Given the description of an element on the screen output the (x, y) to click on. 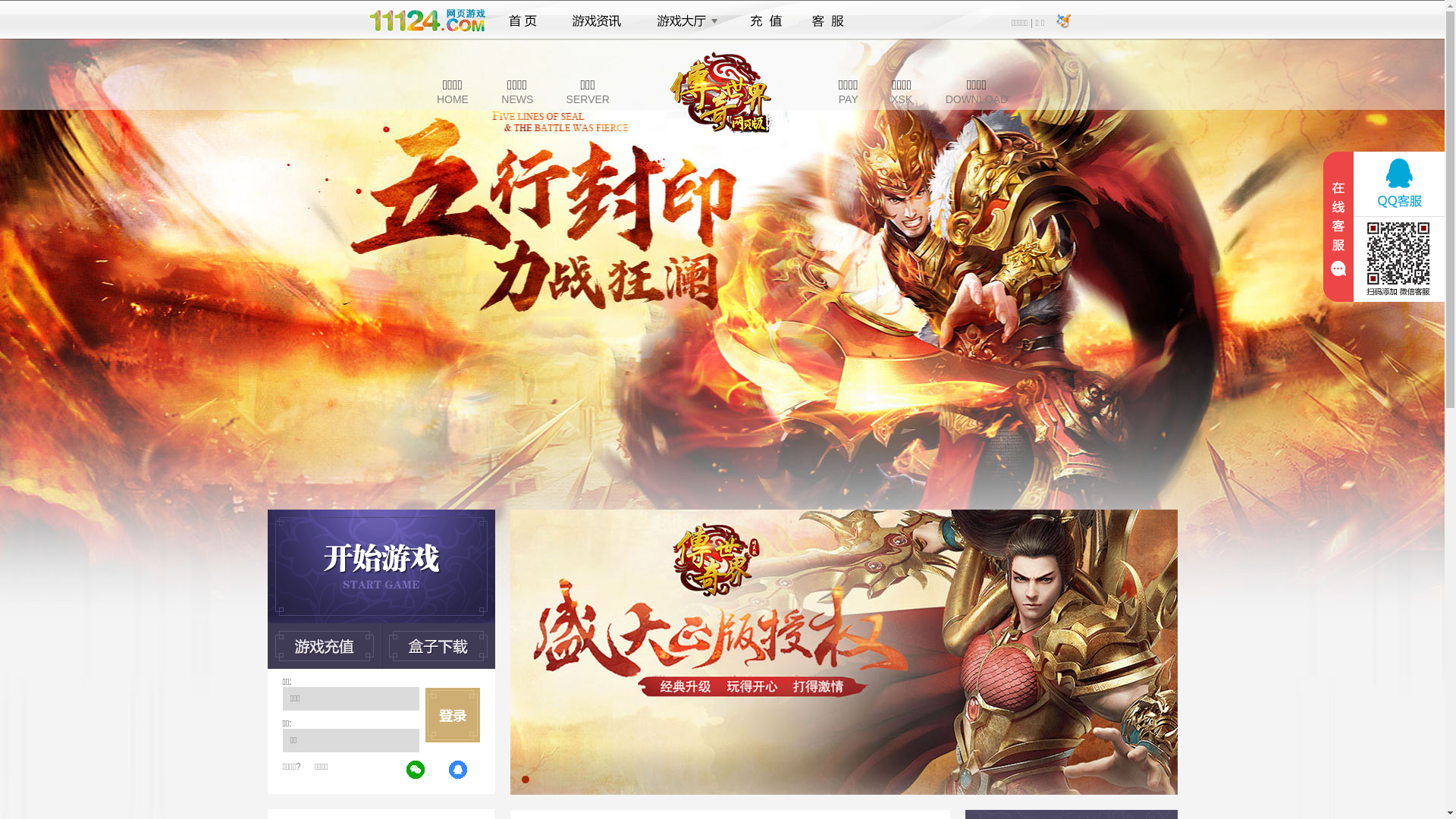
QQ Element type: hover (458, 770)
